Given the description of an element on the screen output the (x, y) to click on. 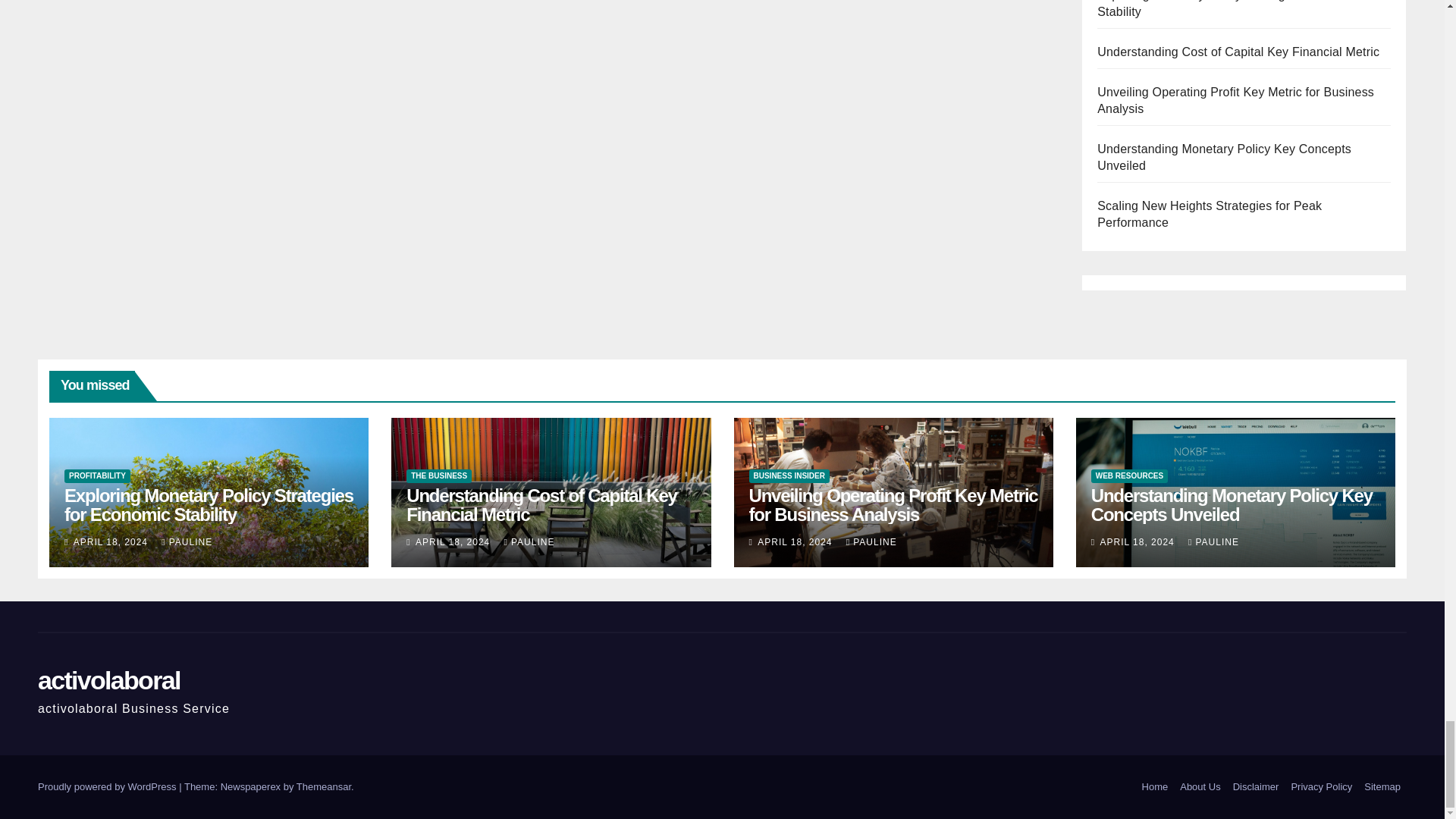
Home (1154, 786)
